Given the description of an element on the screen output the (x, y) to click on. 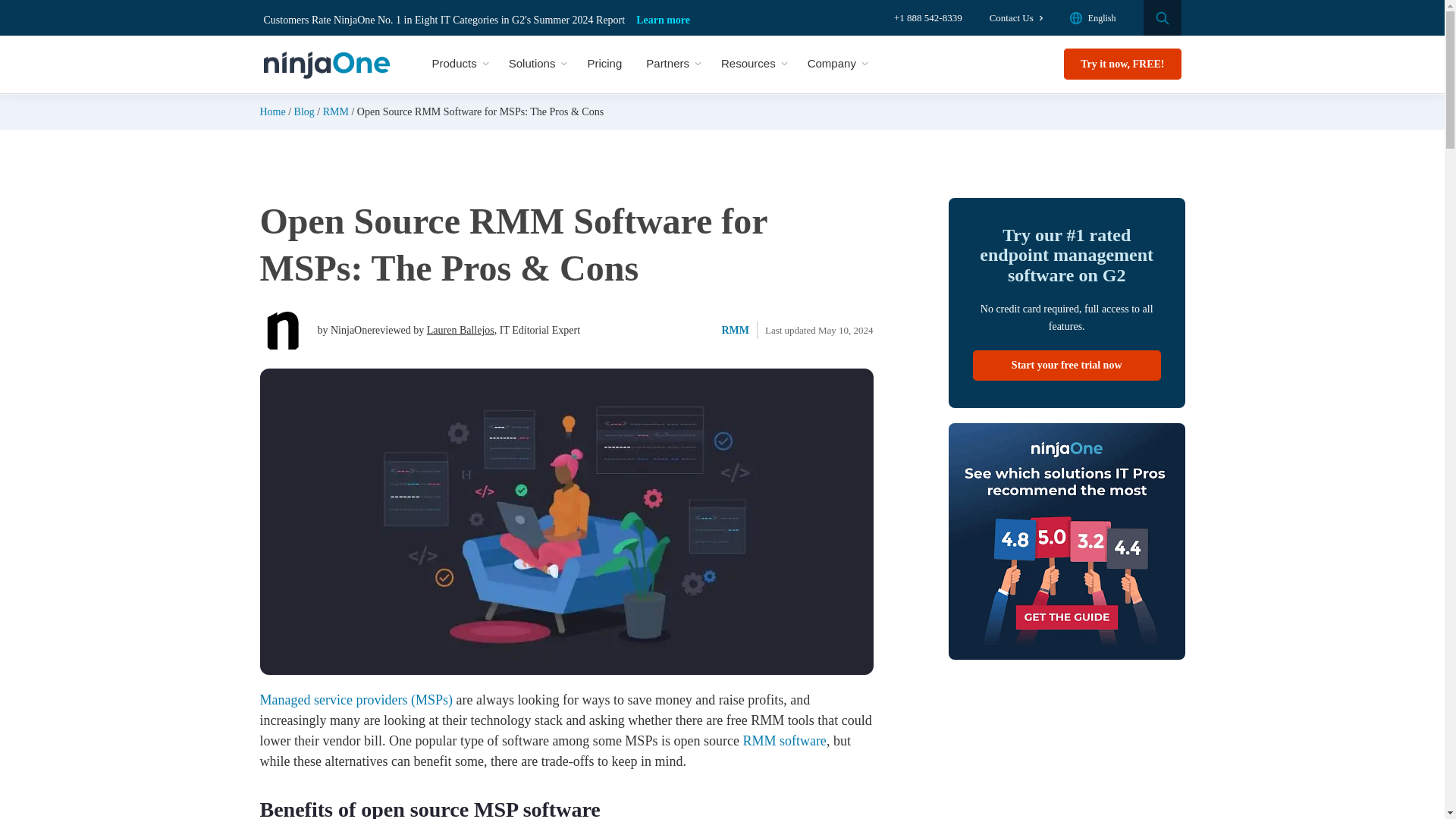
Contact Us (1016, 17)
English (1093, 18)
sysadmin-software-guide-ad (1067, 541)
Learn more (663, 19)
Products (458, 64)
Solutions (535, 64)
